Given the description of an element on the screen output the (x, y) to click on. 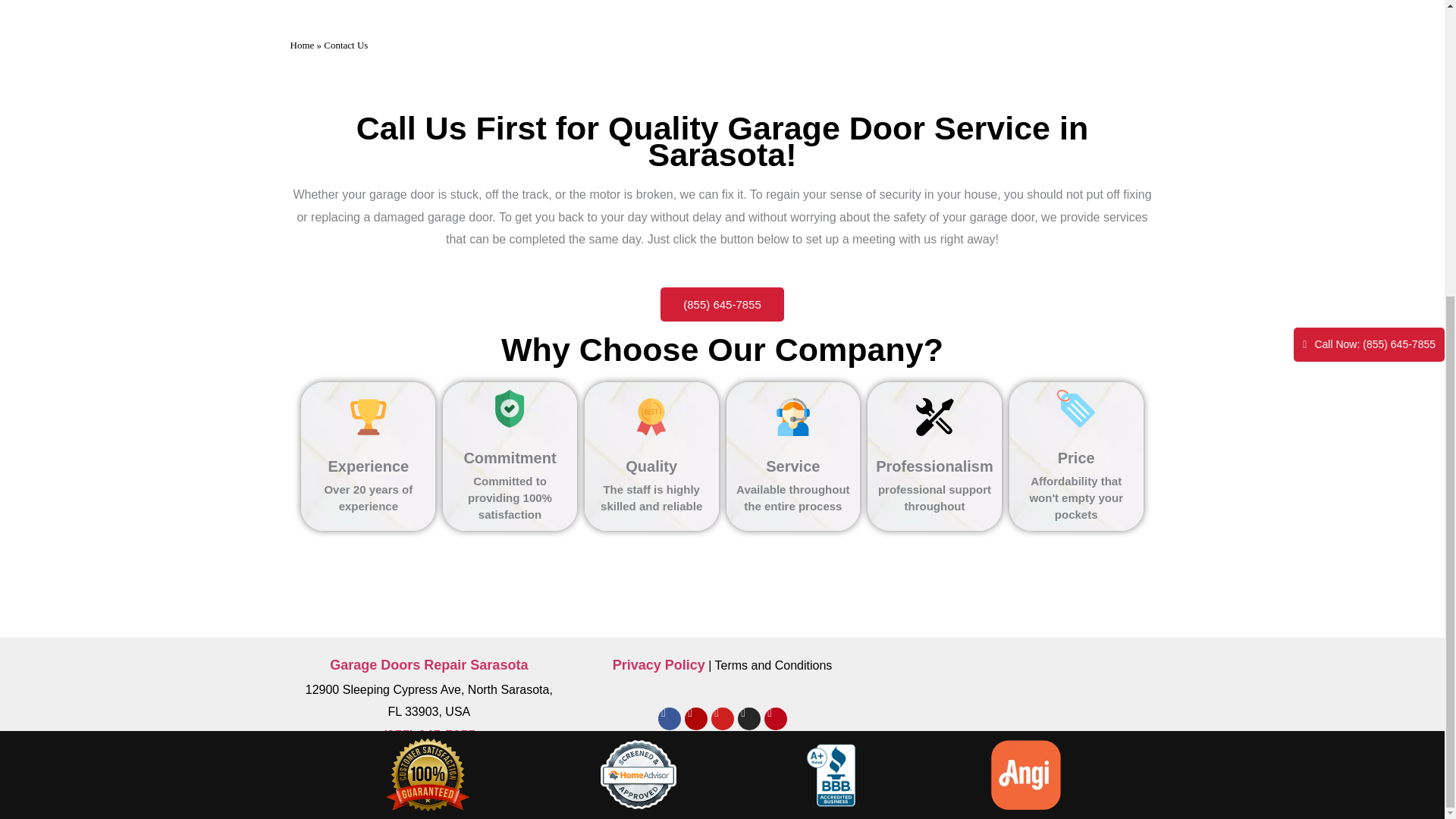
Home (301, 44)
Privacy Policy (658, 664)
Sarasota, Florida, USA (1015, 709)
Garage Doors Repair Sarasota (428, 664)
Sarasota, Florida, USA (721, 10)
